Given the description of an element on the screen output the (x, y) to click on. 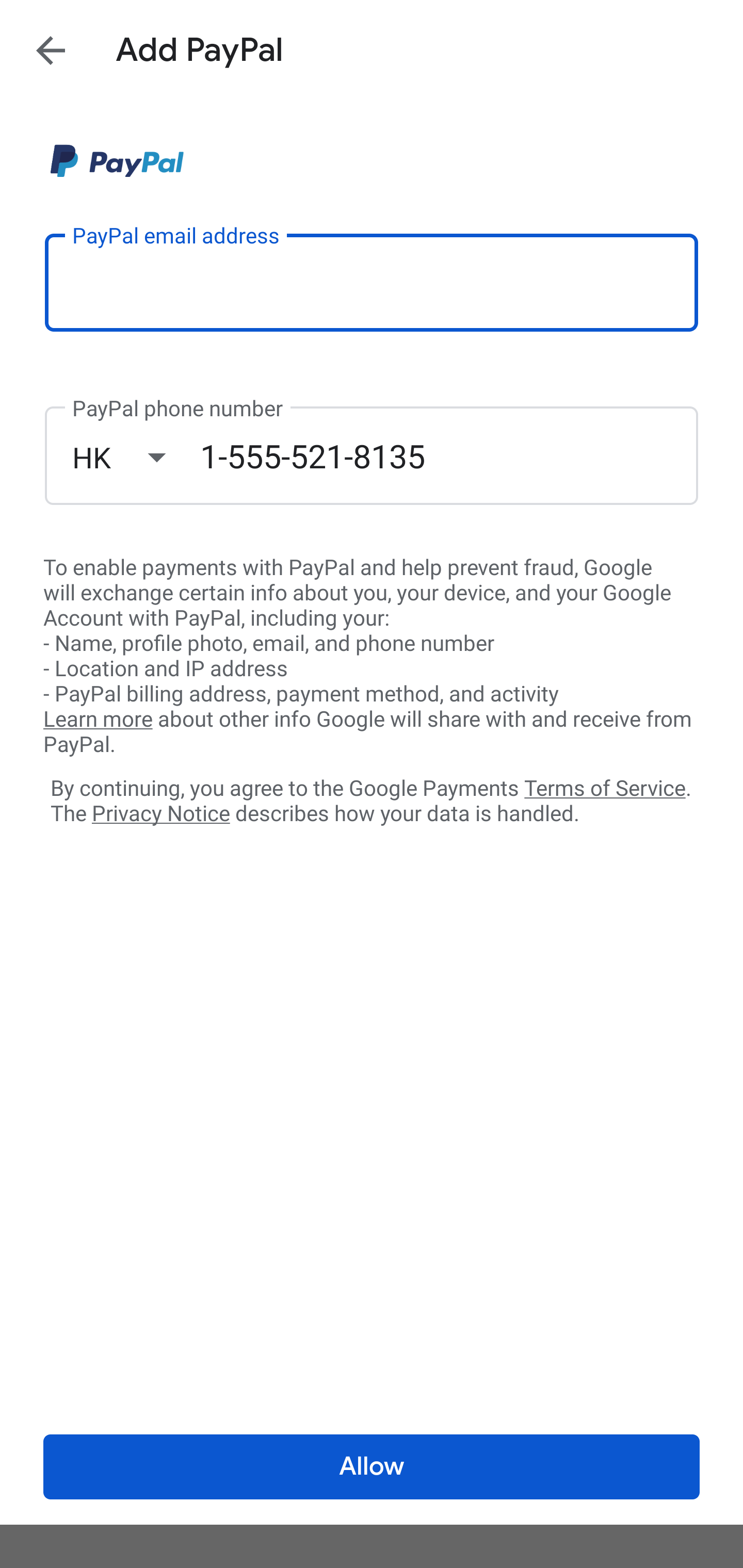
Navigate up (50, 50)
PayPal email address (371, 282)
HK (135, 456)
Learn more (97, 719)
Terms of Service (604, 787)
Privacy Notice (160, 814)
Allow (371, 1466)
